Given the description of an element on the screen output the (x, y) to click on. 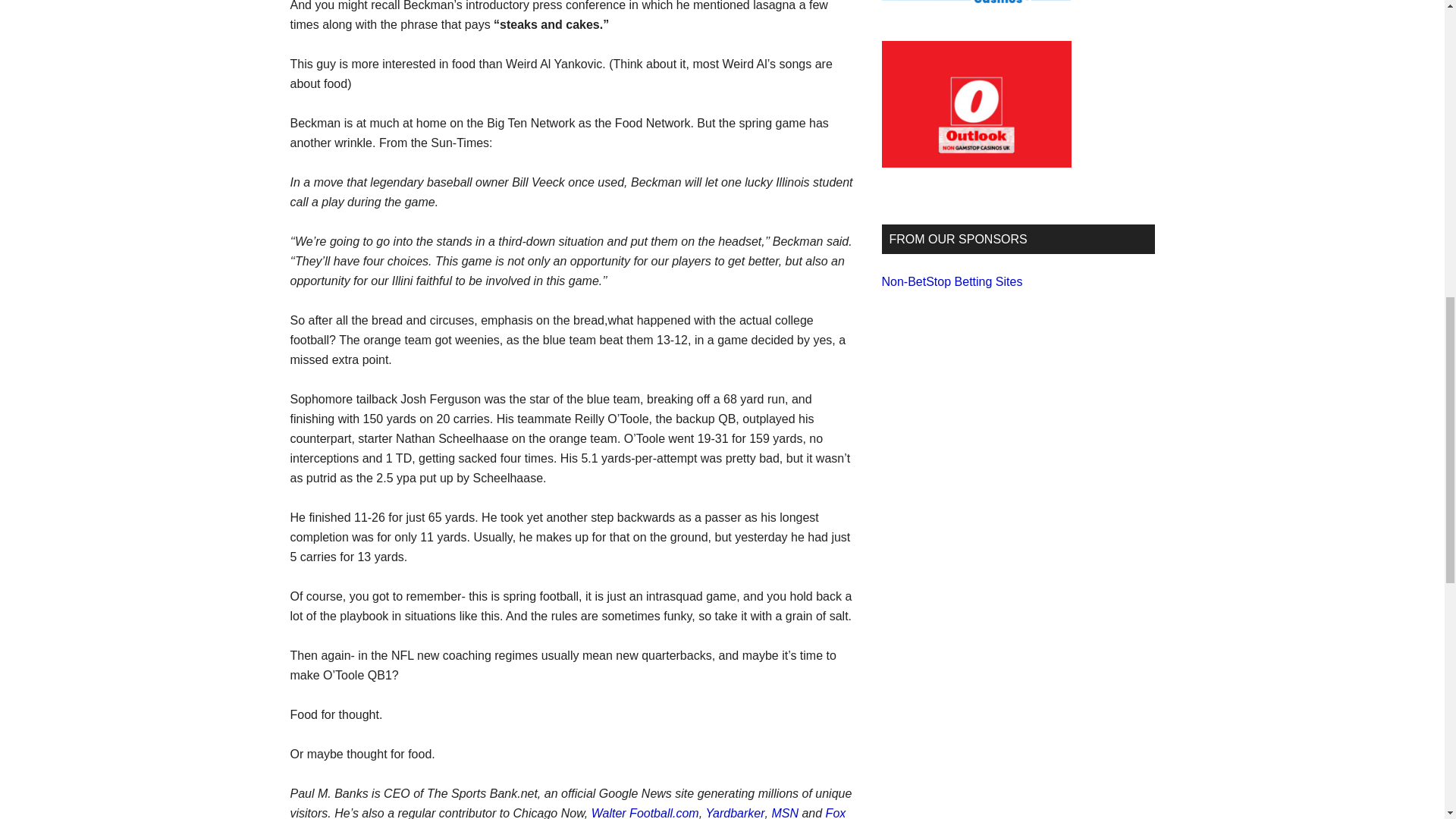
Fox Sports (567, 812)
MSN (784, 812)
Yardbarker (735, 812)
Walter Football.com (644, 812)
